Given the description of an element on the screen output the (x, y) to click on. 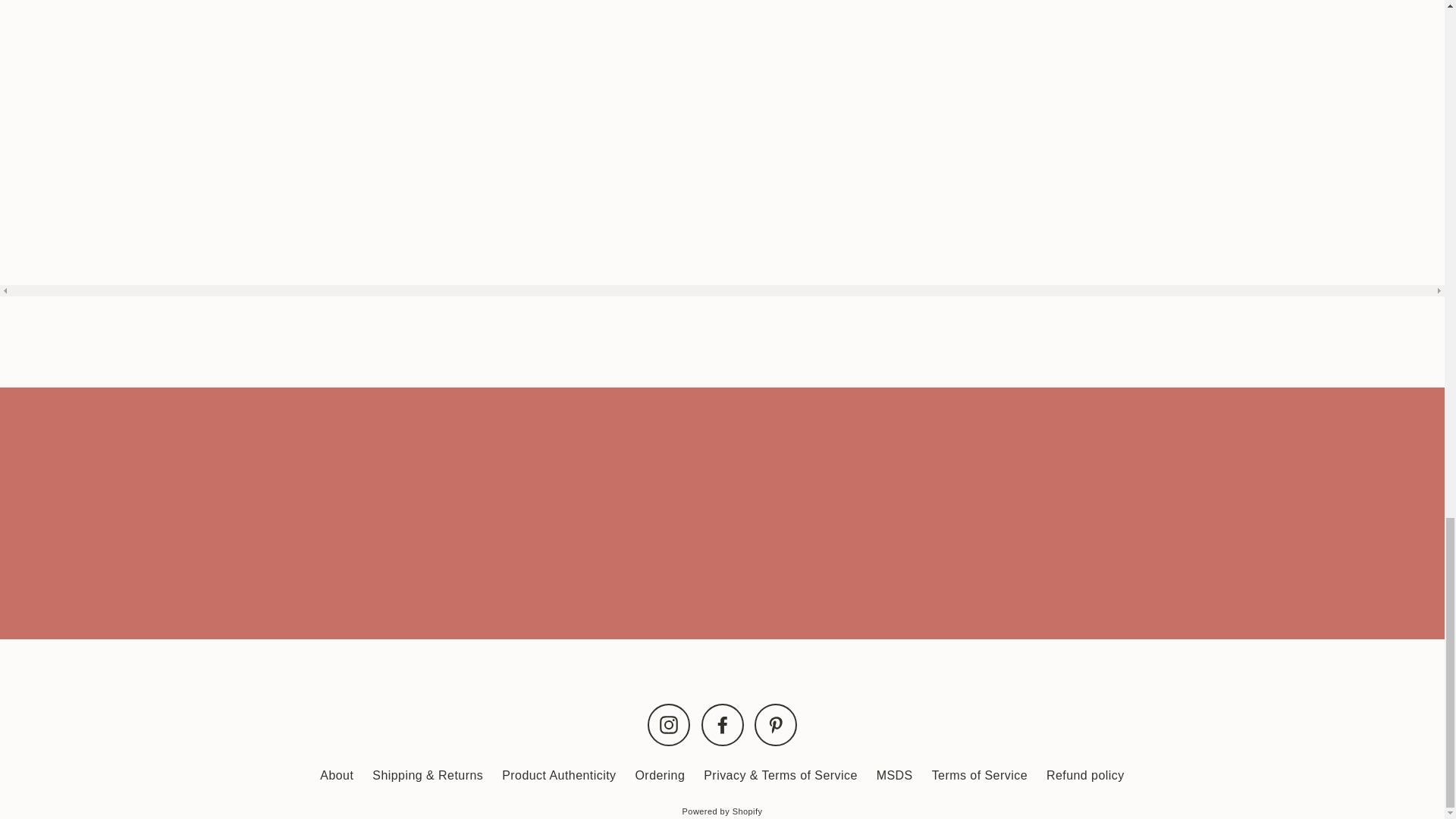
Online Salon Supply on Facebook (721, 724)
Online Salon Supply on Pinterest (775, 724)
Online Salon Supply on Instagram (668, 724)
